Given the description of an element on the screen output the (x, y) to click on. 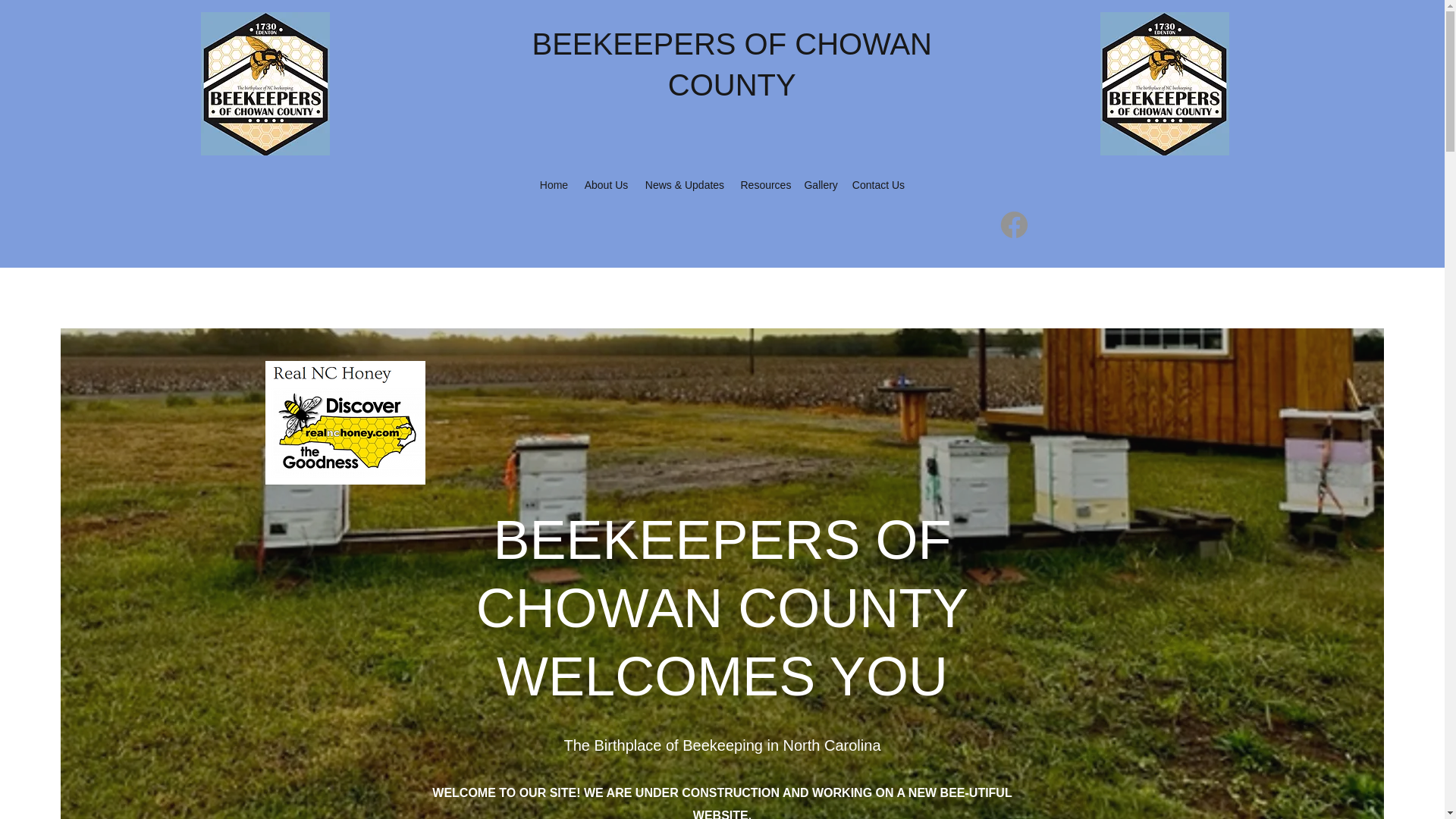
About Us (605, 184)
Resources (764, 184)
BEEKEEPERS OF CHOWAN COUNTY (732, 64)
Gallery (820, 184)
Contact Us (878, 184)
Home (553, 184)
